Given the description of an element on the screen output the (x, y) to click on. 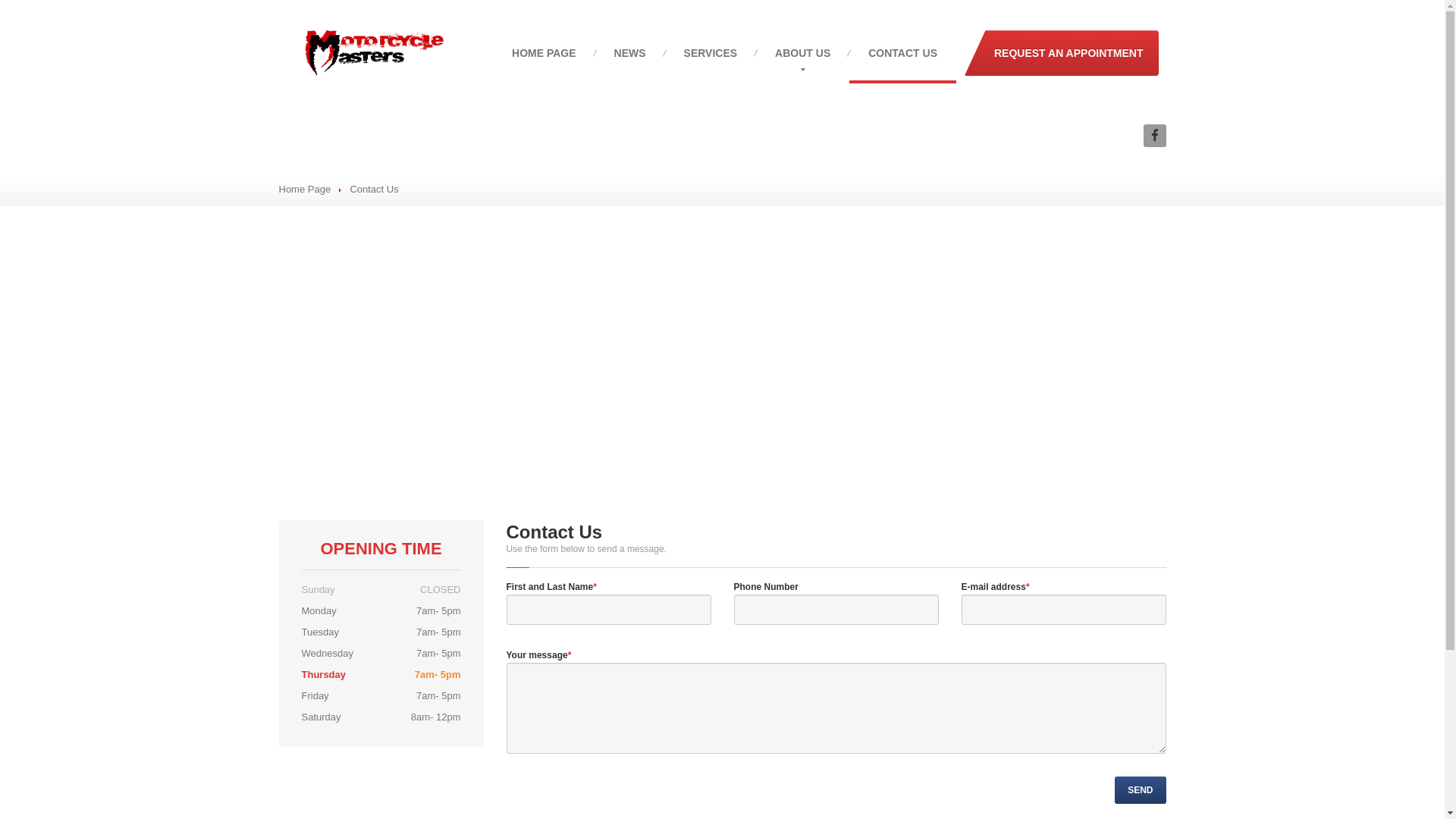
SERVICES Element type: text (710, 52)
ABOUT US Element type: text (802, 52)
NEWS Element type: text (630, 52)
Send Element type: text (1139, 789)
Home Page Element type: text (305, 188)
CONTACT US Element type: text (902, 52)
HOME PAGE Element type: text (543, 52)
REQUEST AN APPOINTMENT Element type: text (1060, 52)
